Given the description of an element on the screen output the (x, y) to click on. 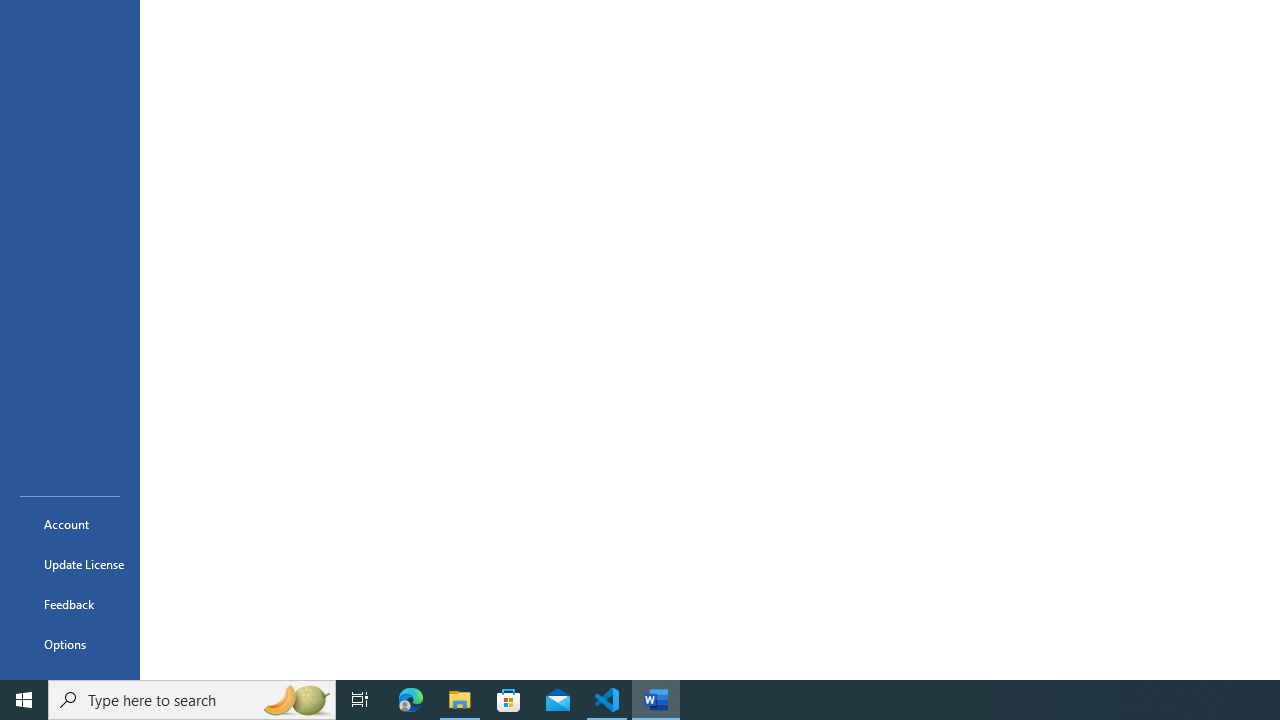
Options (69, 643)
Account (69, 523)
Feedback (69, 603)
Update License (69, 563)
